Given the description of an element on the screen output the (x, y) to click on. 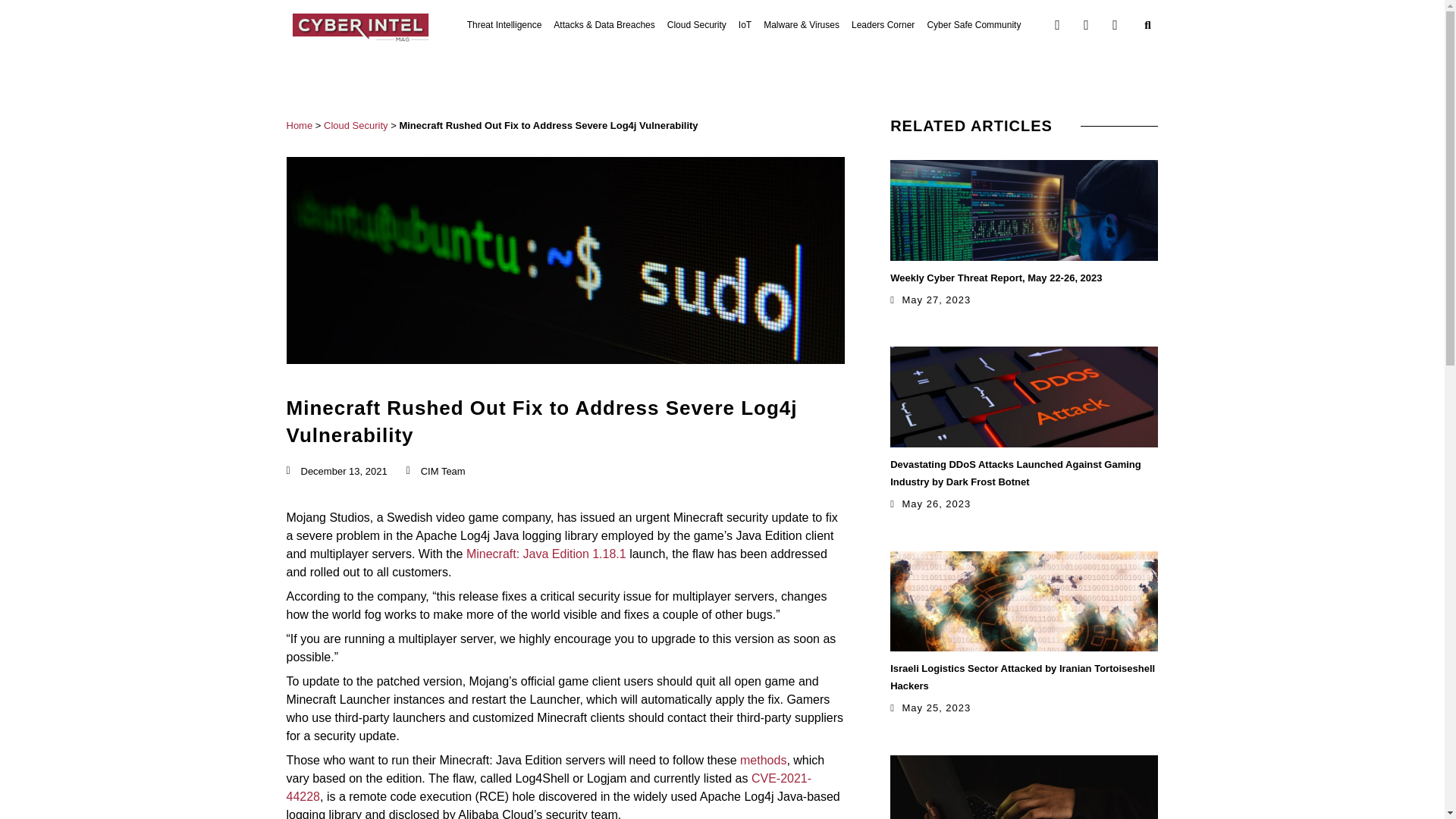
Minecraft: Java Edition 1.18.1 (545, 553)
Threat Intelligence (504, 24)
Leaders Corner (882, 24)
Cloud Security (355, 125)
methods (762, 759)
CIM Team (435, 471)
Cyber Safe Community (973, 24)
Home (299, 125)
Cloud Security (696, 24)
CVE-2021-44228 (549, 787)
Weekly Cyber Threat Report, May 22-26, 2023 (995, 276)
